Given the description of an element on the screen output the (x, y) to click on. 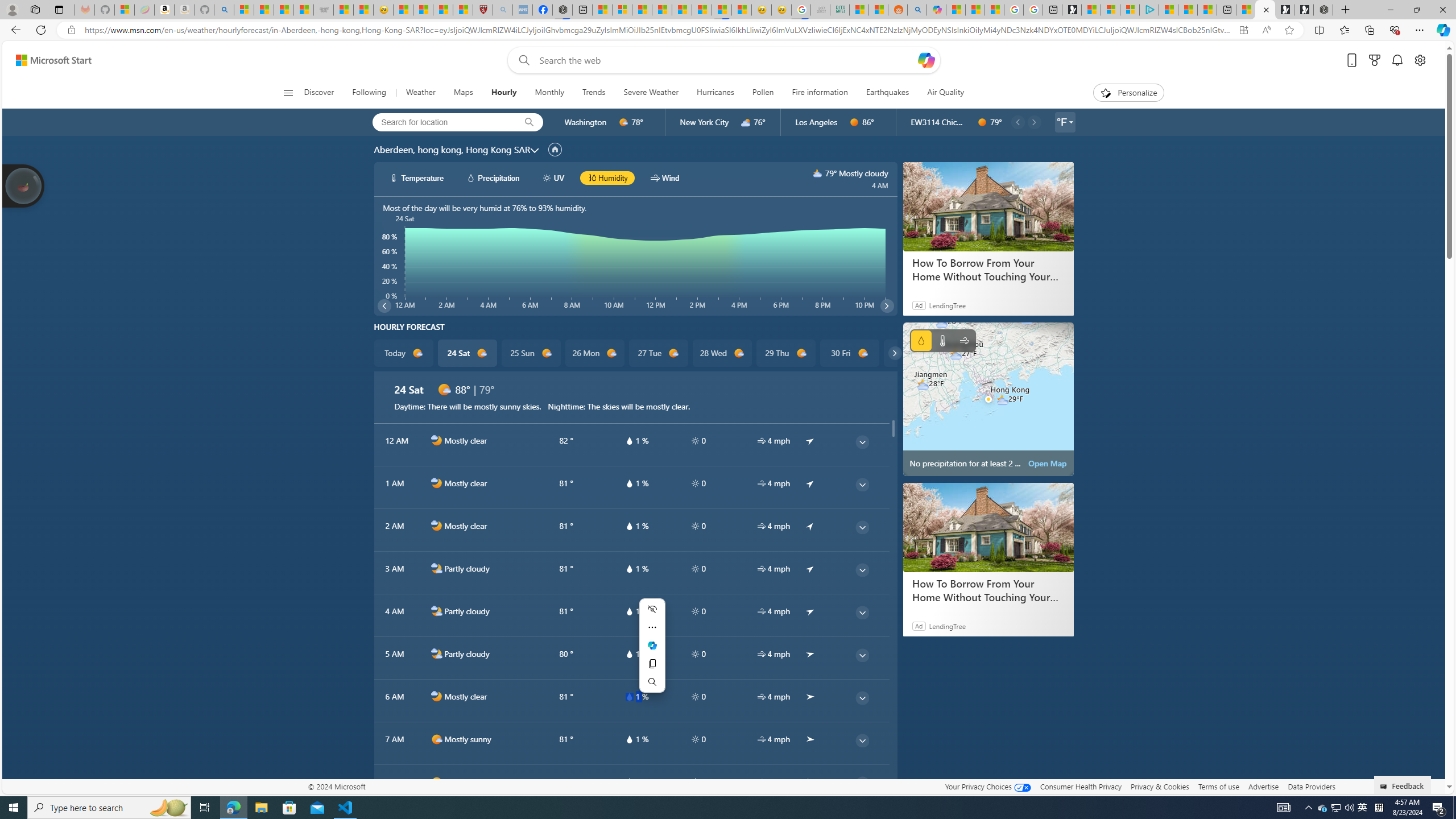
30 Fri d1000 (849, 352)
hourlyTable/uv (694, 782)
Copy (652, 663)
Trends (593, 92)
Fire information (820, 92)
